Given the description of an element on the screen output the (x, y) to click on. 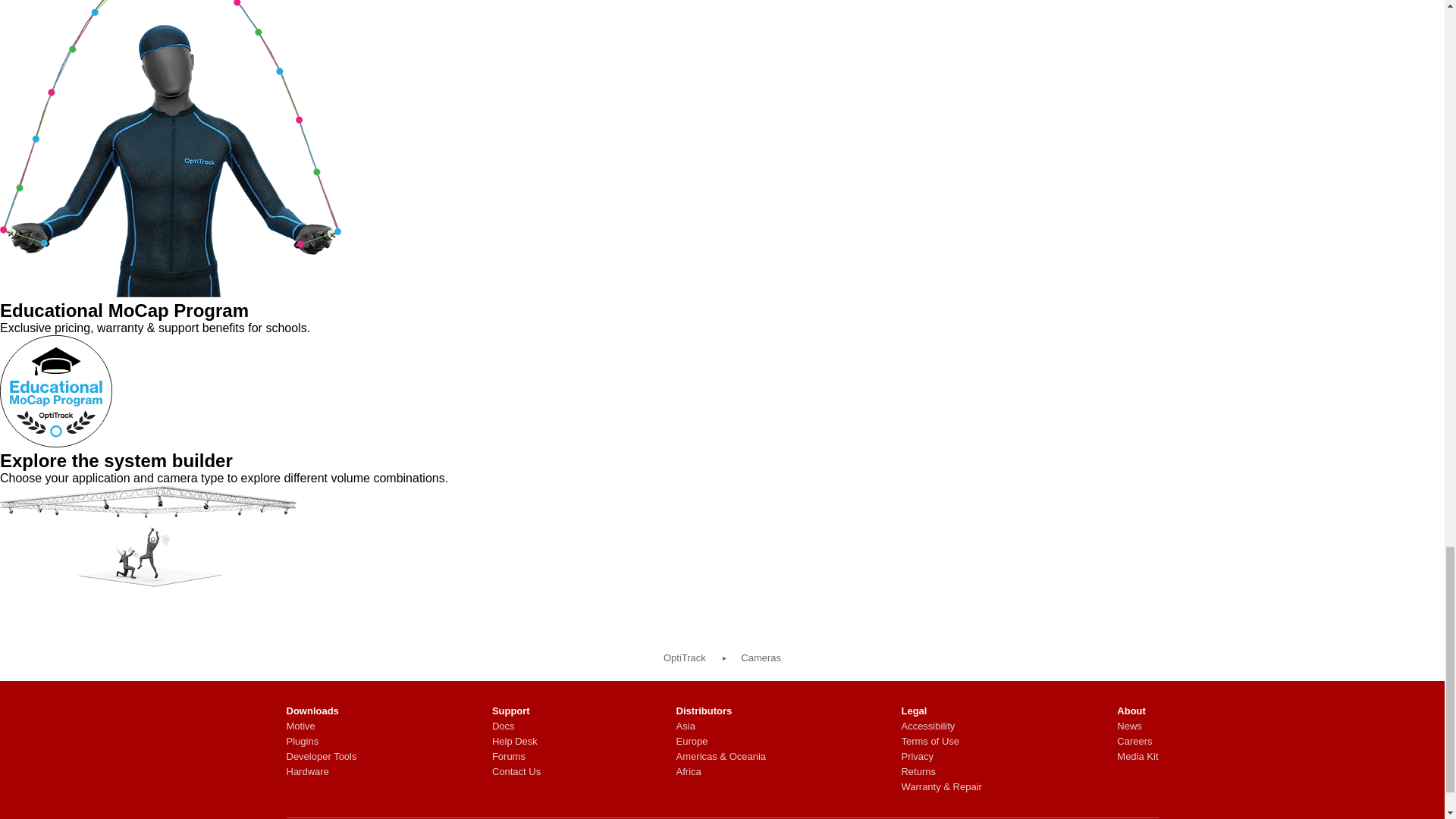
Forums (516, 756)
Accessibility (941, 726)
Contact Us (516, 771)
Europe (722, 741)
Downloads (321, 711)
Hardware (321, 771)
Developer Tools (321, 756)
OptiTrack (684, 657)
Africa (722, 771)
Asia (722, 726)
